Given the description of an element on the screen output the (x, y) to click on. 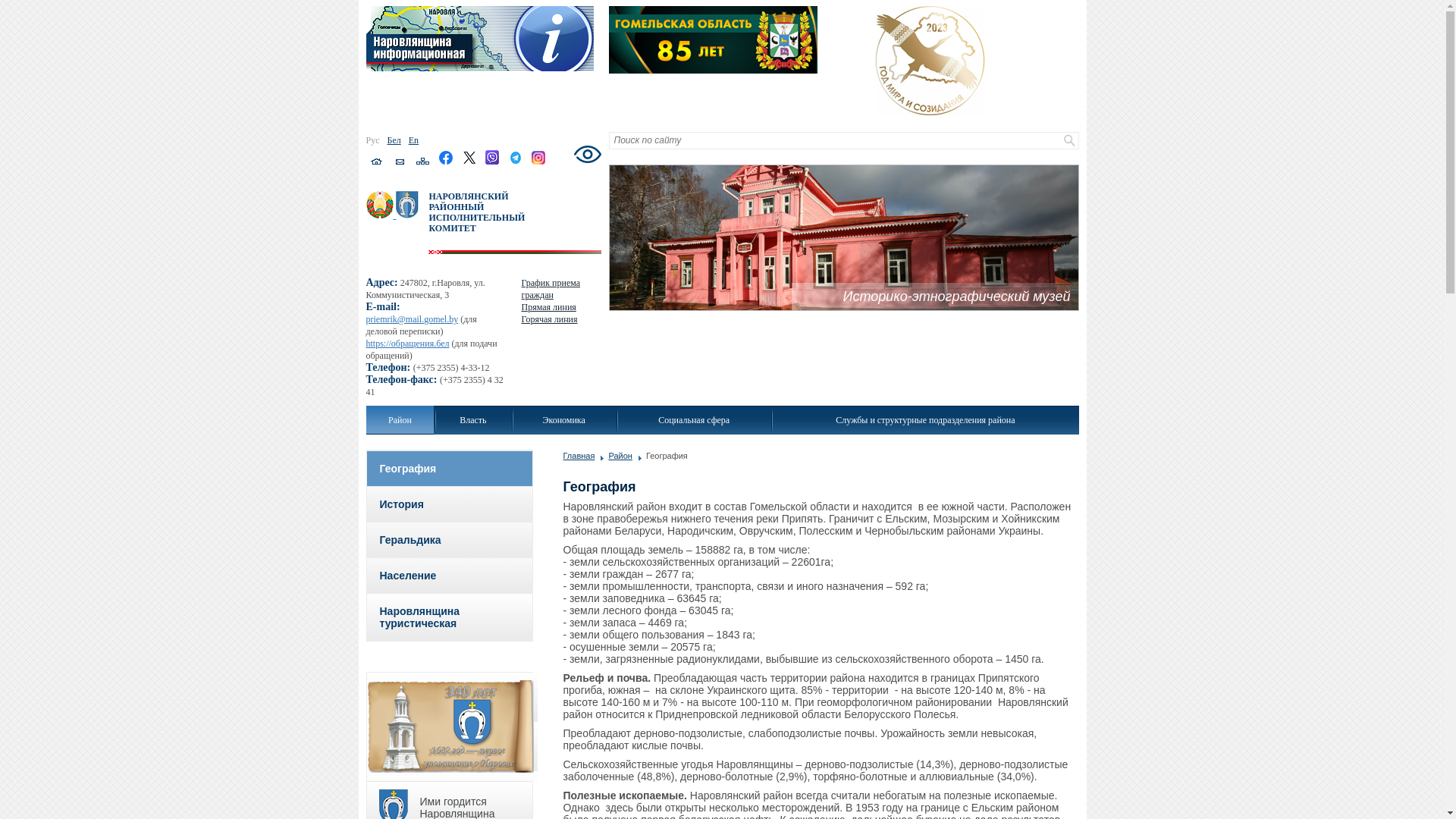
Facebook Element type: hover (445, 157)
Facebook Element type: hover (445, 162)
priemrik@mail.gomel.by Element type: text (411, 318)
twitter Element type: hover (469, 162)
En Element type: text (413, 139)
twitter Element type: hover (469, 157)
